Given the description of an element on the screen output the (x, y) to click on. 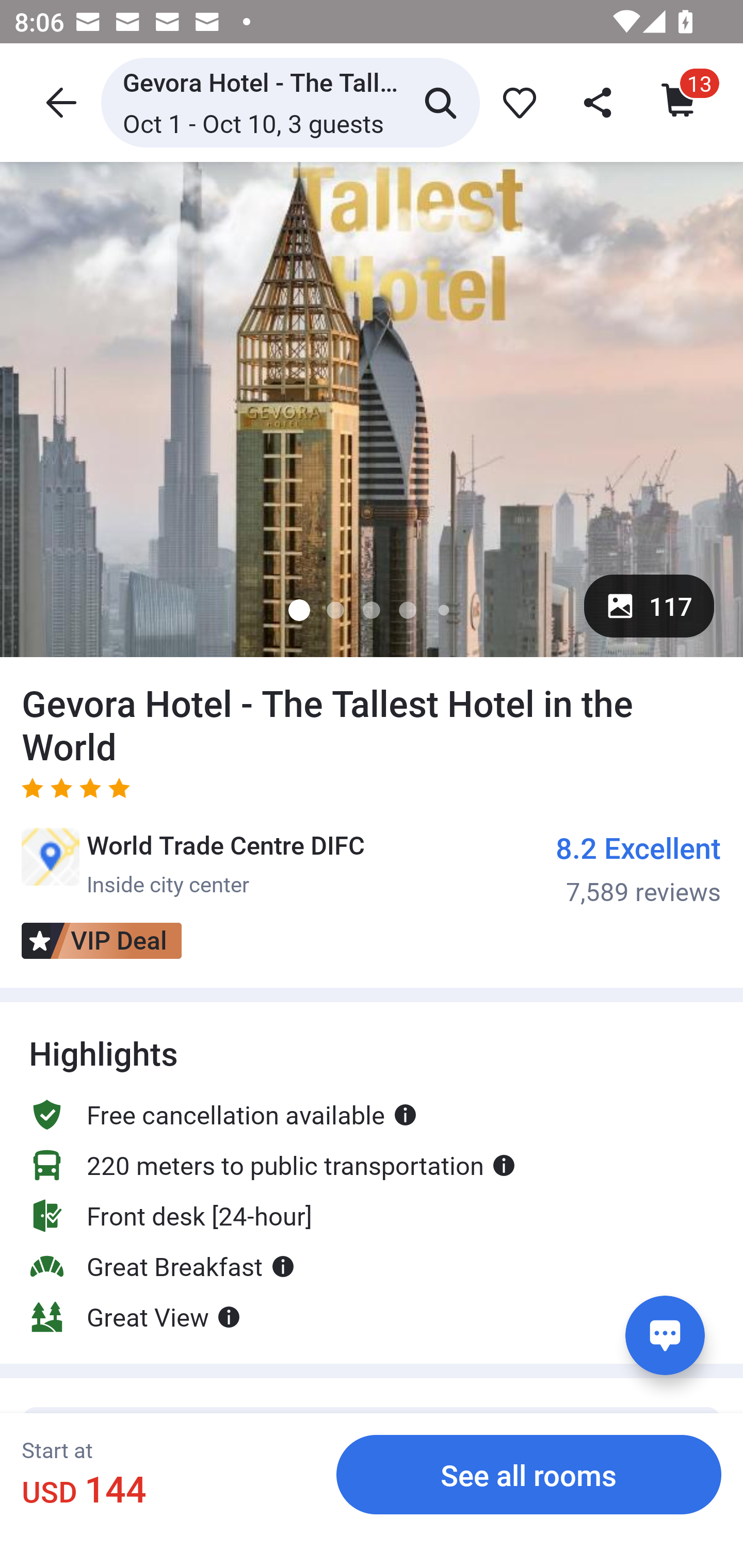
header icon (59, 102)
favorite_icon 0dbe6efb (515, 102)
share_header_icon (598, 102)
Cart icon cart_item_count 13 (679, 102)
image (371, 408)
117 (648, 605)
World Trade Centre DIFC Inside city center (192, 863)
8.2 Excellent 7,589 reviews (638, 867)
Free cancellation available (222, 1095)
220 meters to public transportation (272, 1164)
Great Breakfast (161, 1266)
Great View (134, 1316)
See all rooms (528, 1474)
